Given the description of an element on the screen output the (x, y) to click on. 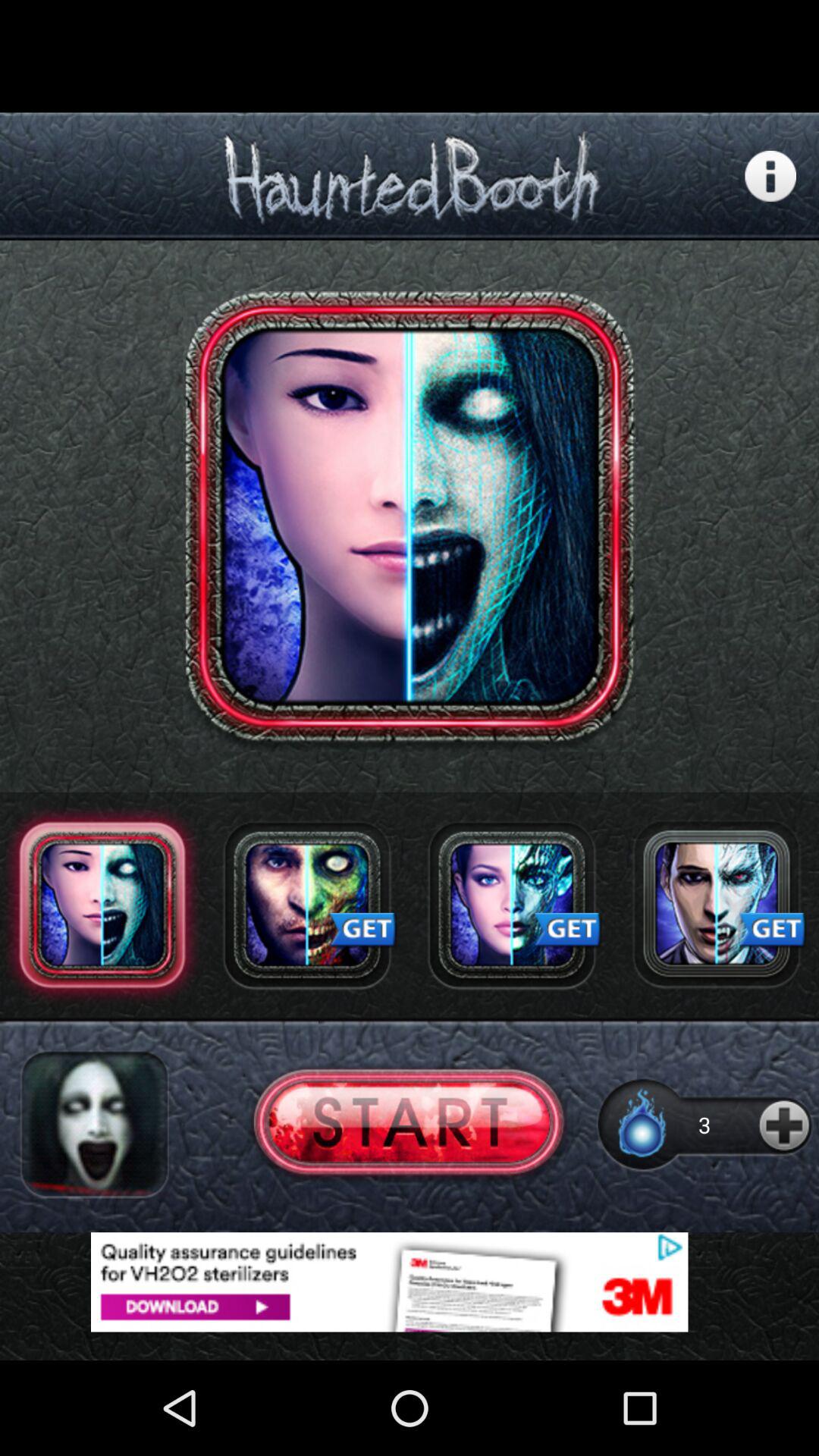
option (511, 904)
